Given the description of an element on the screen output the (x, y) to click on. 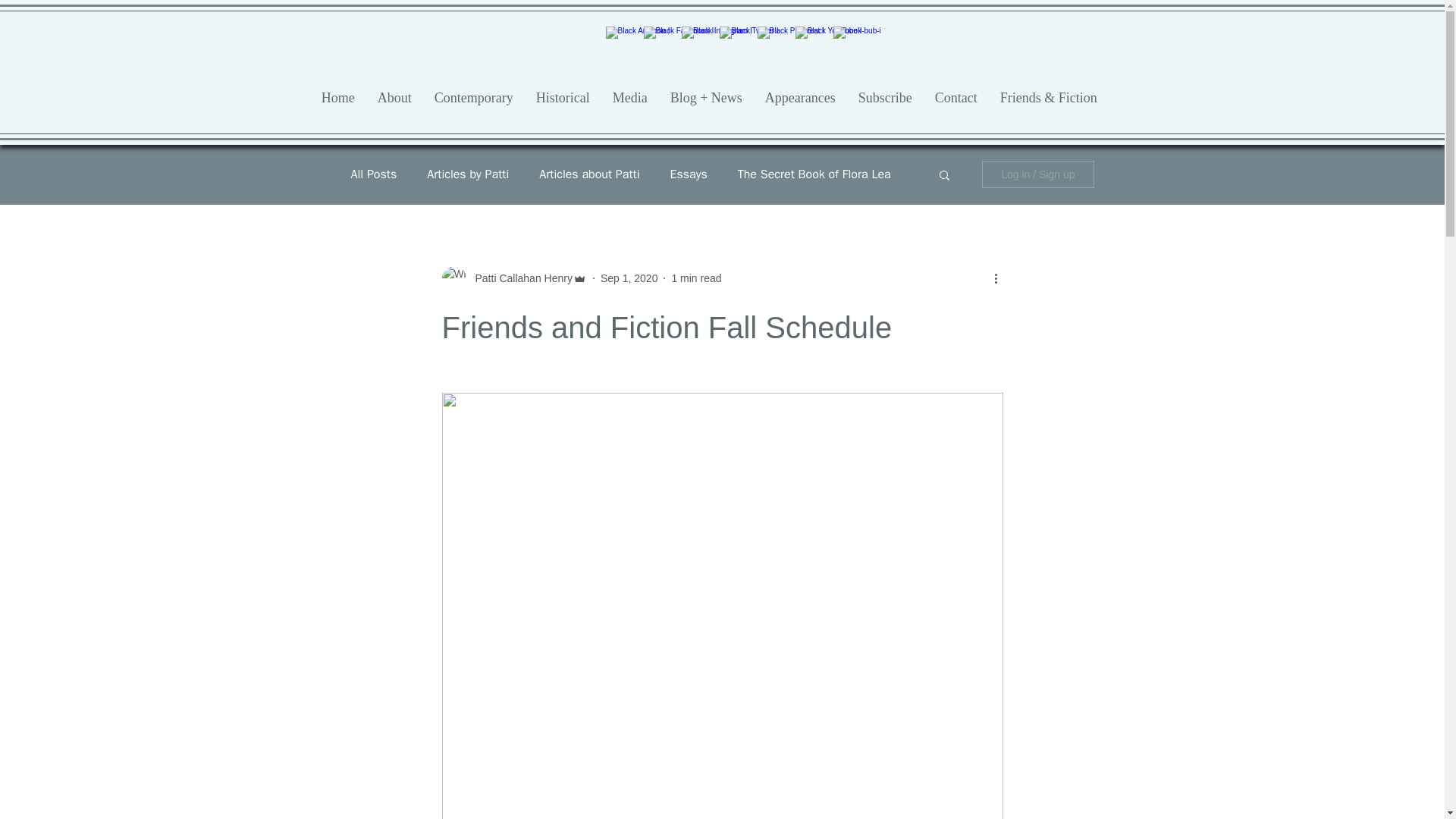
Home (338, 103)
Contemporary (473, 103)
1 min read (695, 277)
Patti Callahan Henry  (518, 277)
Media (630, 103)
About (394, 103)
Historical (562, 103)
Sep 1, 2020 (628, 277)
